Given the description of an element on the screen output the (x, y) to click on. 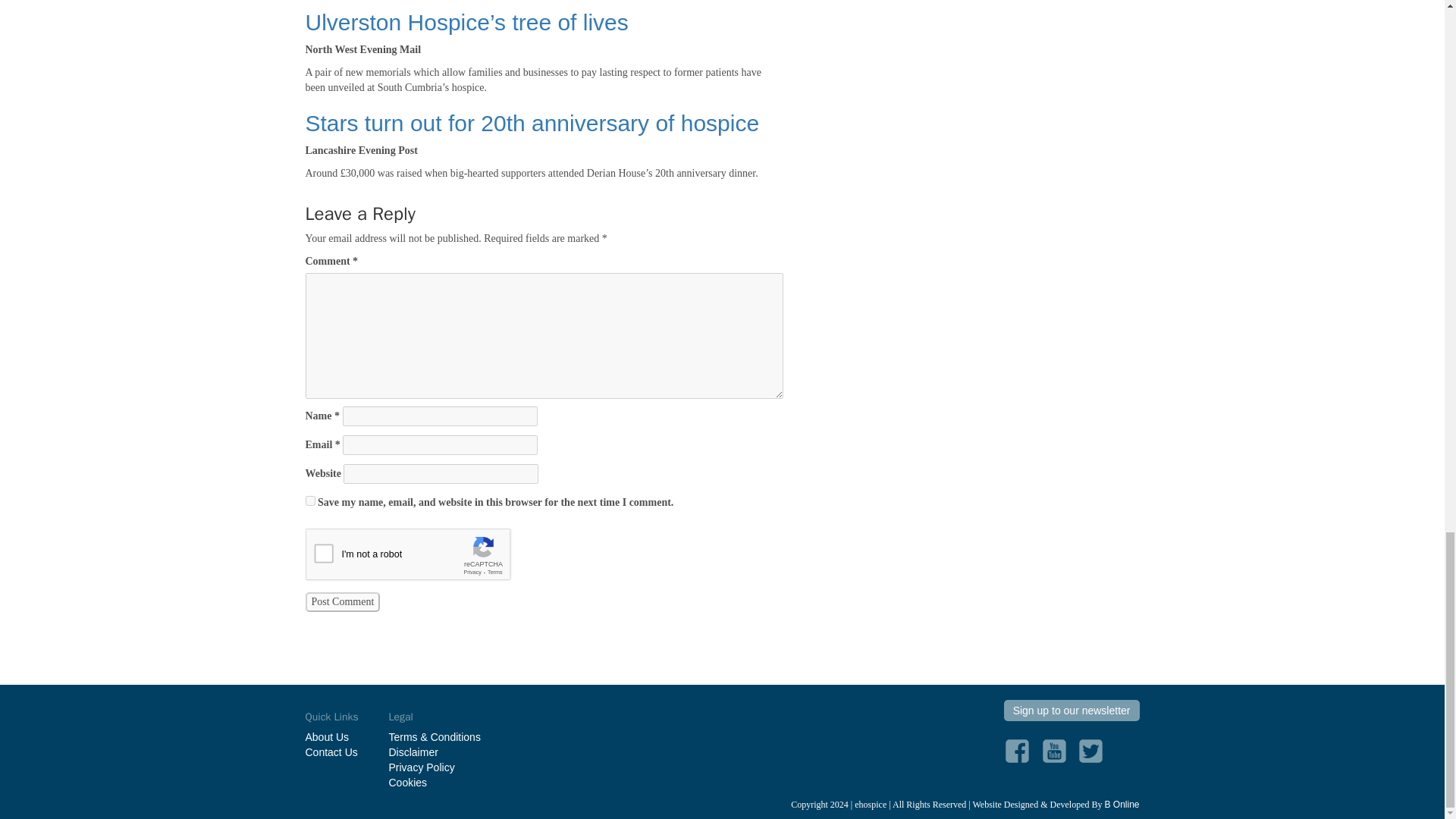
yes (309, 501)
Post Comment (342, 601)
reCAPTCHA (419, 558)
